Given the description of an element on the screen output the (x, y) to click on. 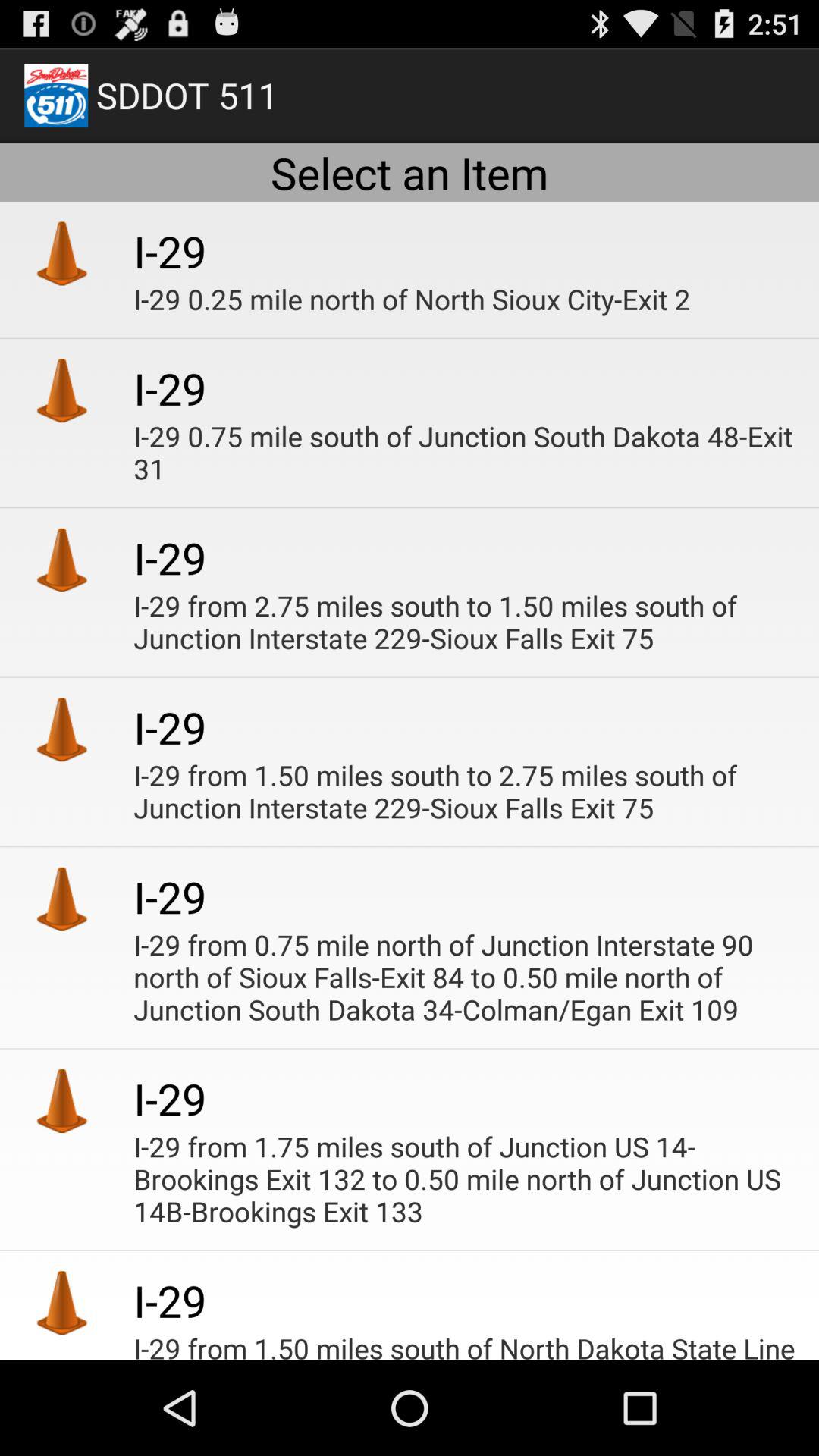
click on the icon from 2nd option of select an item (62, 390)
click on the image at left side of sddot 511 (55, 95)
